Given the description of an element on the screen output the (x, y) to click on. 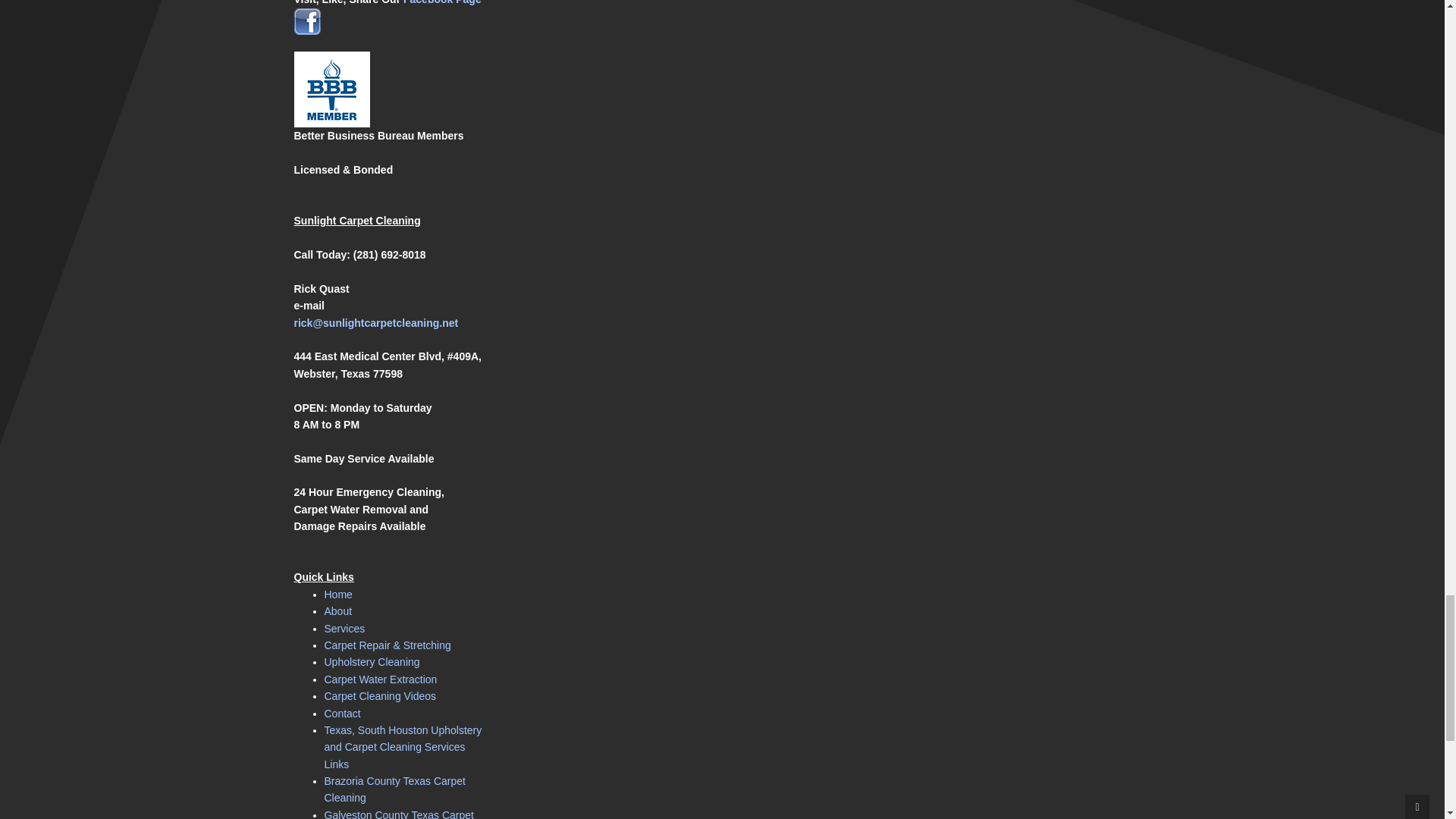
Home (338, 594)
Carpet Cleaning Videos (380, 695)
Contact (342, 713)
Facebook Page (442, 2)
Services (344, 628)
About (338, 611)
Upholstery Cleaning (372, 662)
Carpet Water Extraction (381, 679)
Brazoria County Texas Carpet Cleaning (394, 788)
Galveston County Texas Carpet Cleaning (399, 814)
